Given the description of an element on the screen output the (x, y) to click on. 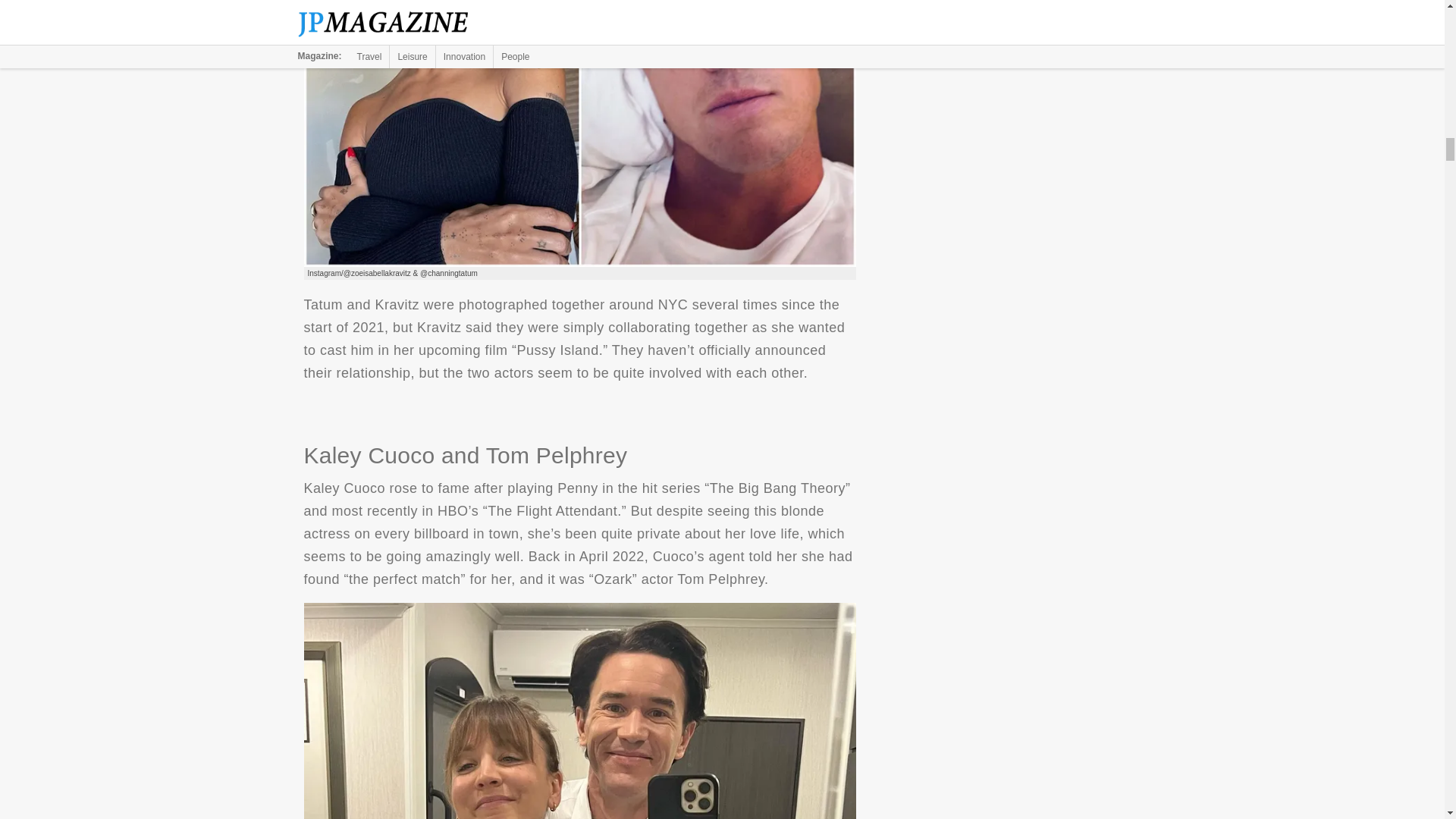
Kaley Cuoco and Tom Pelphrey (579, 710)
